Given the description of an element on the screen output the (x, y) to click on. 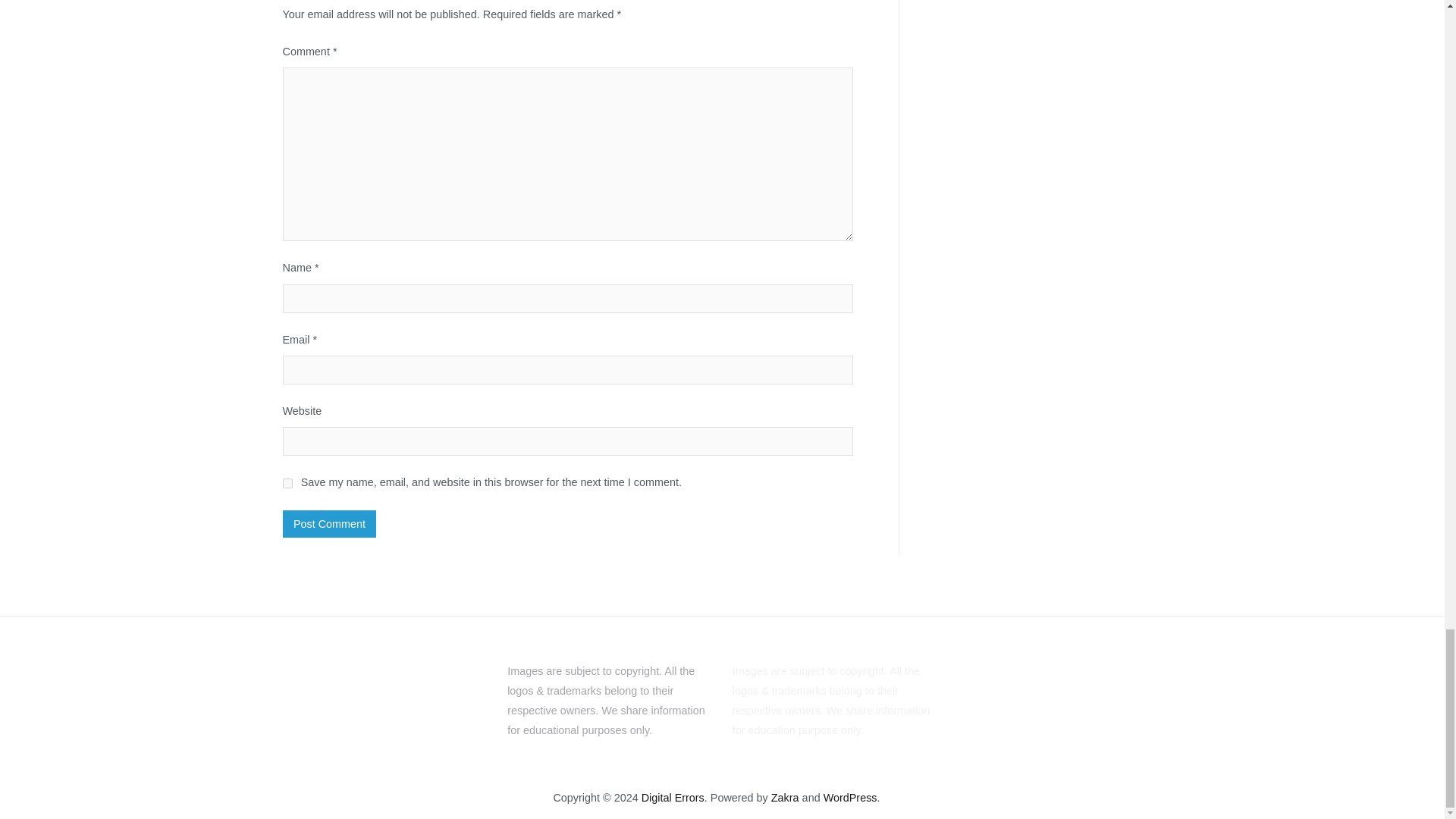
Post Comment (328, 523)
yes (287, 483)
Zakra (785, 797)
Digital Errors (673, 797)
Post Comment (328, 523)
WordPress (850, 797)
